Given the description of an element on the screen output the (x, y) to click on. 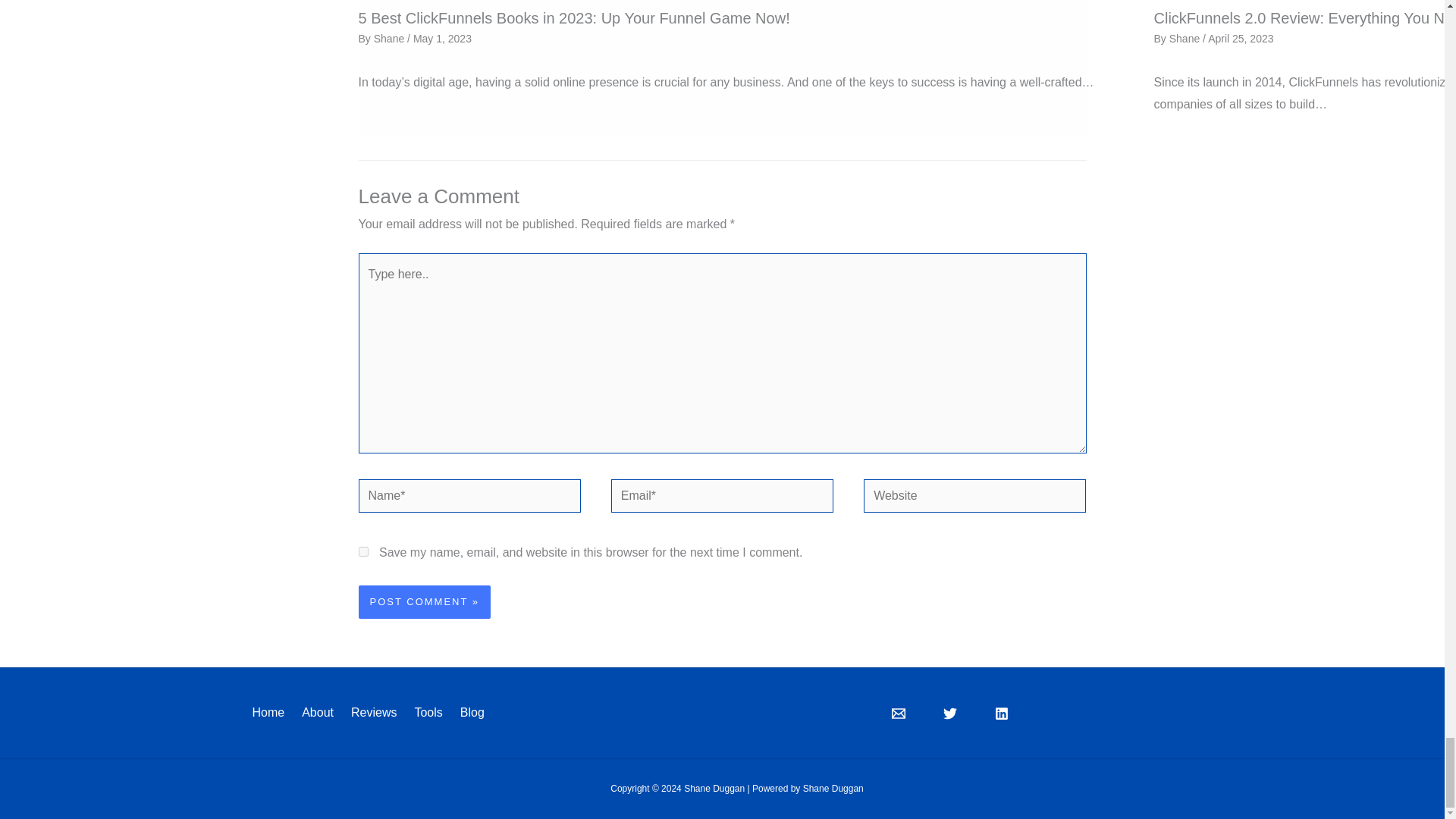
yes (363, 551)
Shane (390, 38)
View all posts by Shane (1185, 38)
5 Best ClickFunnels Books in 2023: Up Your Funnel Game Now! (573, 17)
View all posts by Shane (390, 38)
